Given the description of an element on the screen output the (x, y) to click on. 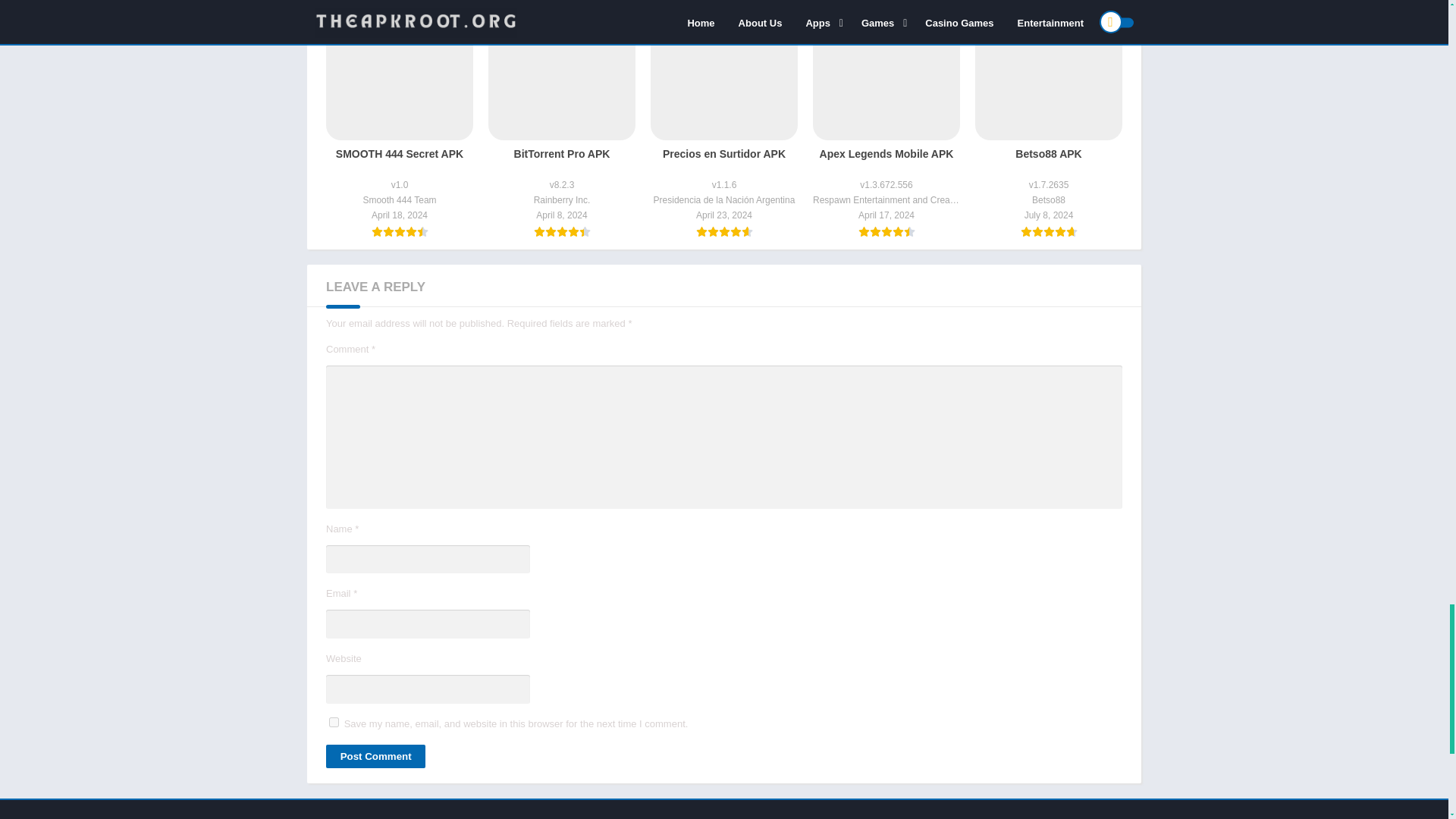
Post Comment (375, 756)
yes (334, 722)
